Given the description of an element on the screen output the (x, y) to click on. 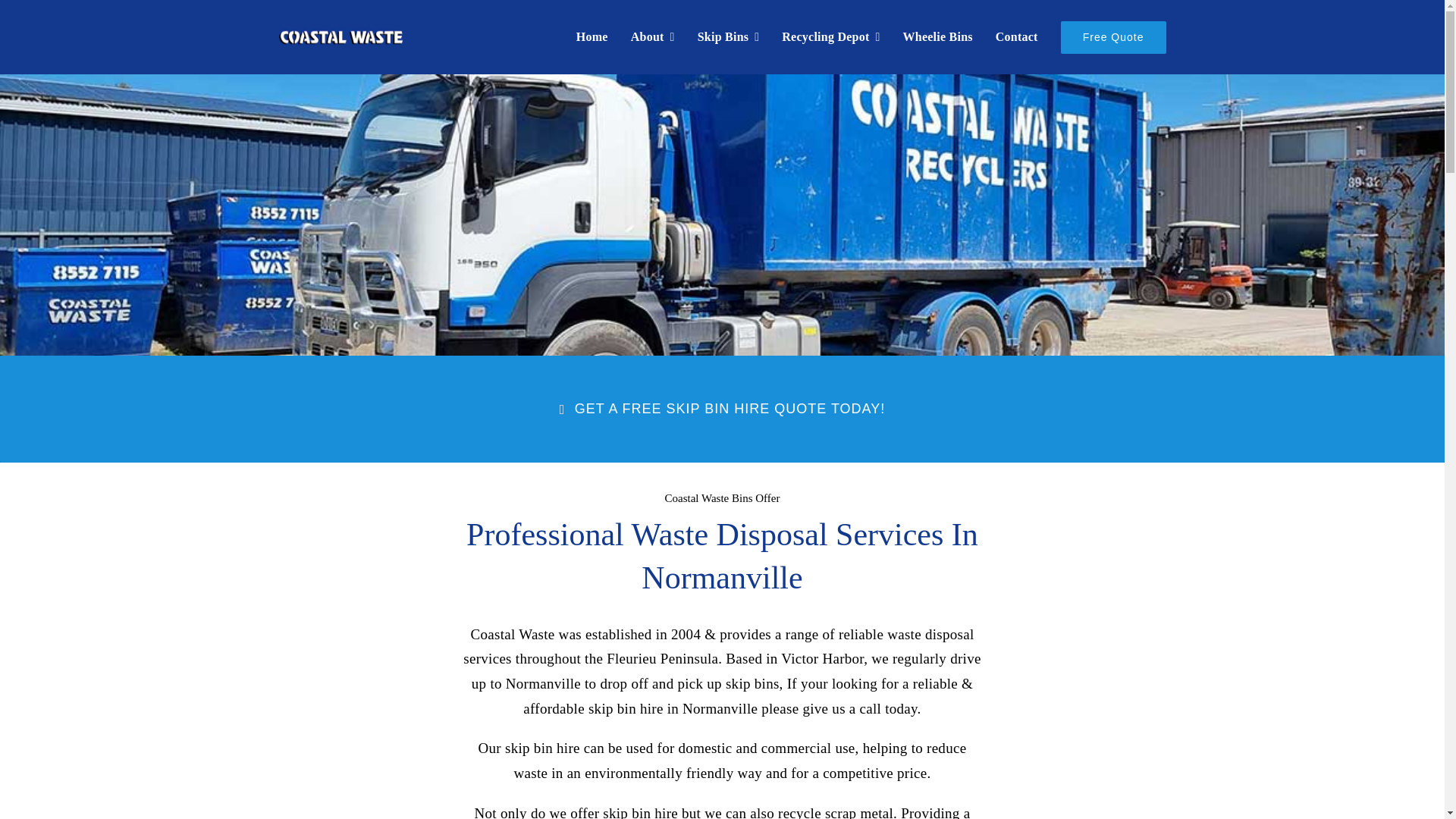
Free Quote (1113, 37)
About (652, 37)
Opens a widget where you can chat to one of our agents (1386, 792)
Wheelie Bins (937, 37)
Skip Bins (728, 37)
Recycling Depot (830, 37)
